Given the description of an element on the screen output the (x, y) to click on. 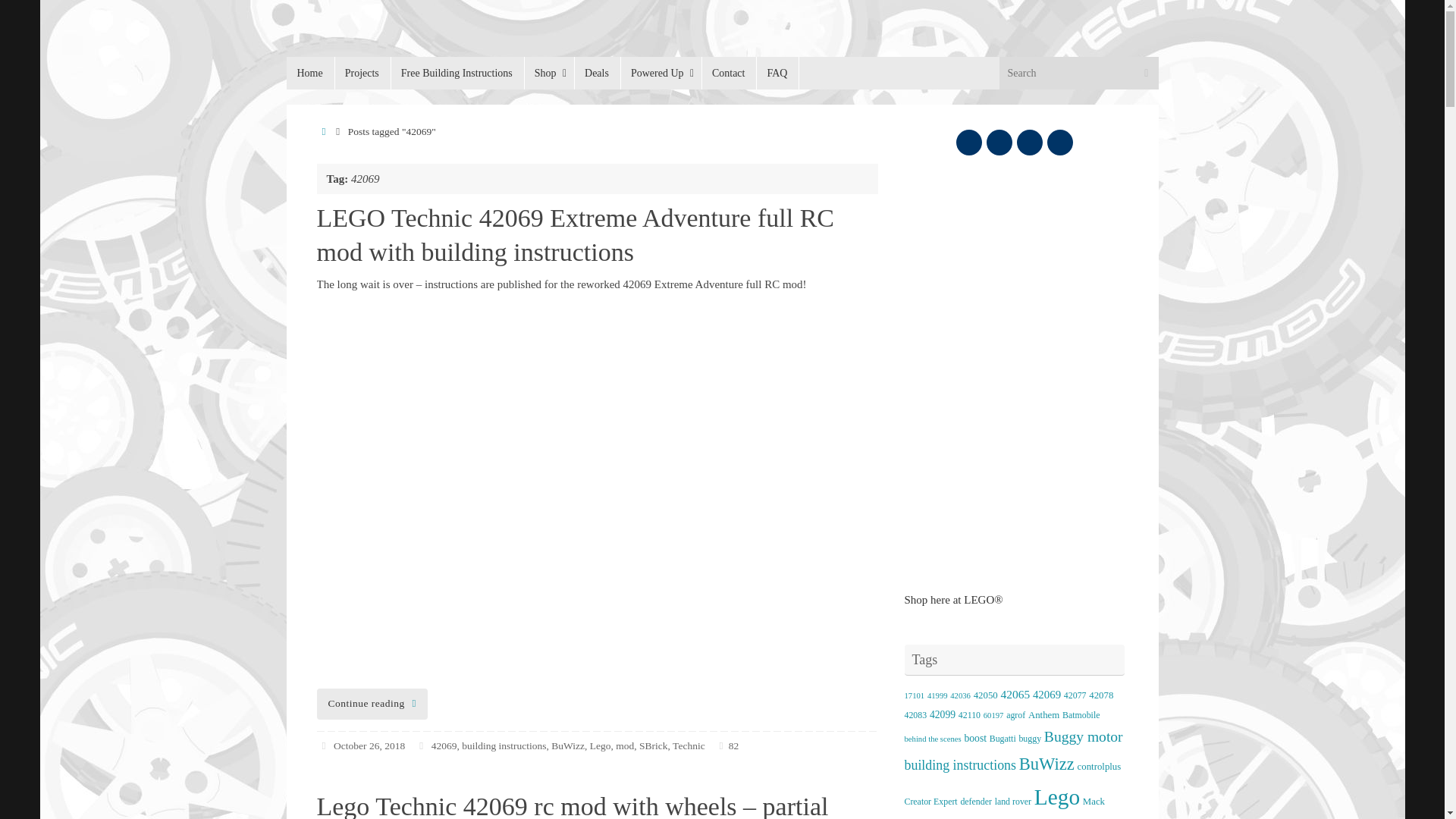
building instructions (503, 745)
mod (624, 745)
RacingBrick (399, 56)
October 26, 2018 (368, 745)
Projects (362, 72)
Contact (729, 72)
FAQ (776, 72)
Deals (596, 72)
Powered Up (660, 72)
Shop (548, 72)
Home (310, 72)
Tags (421, 745)
Technic (688, 745)
Free Building Instructions (457, 72)
